Given the description of an element on the screen output the (x, y) to click on. 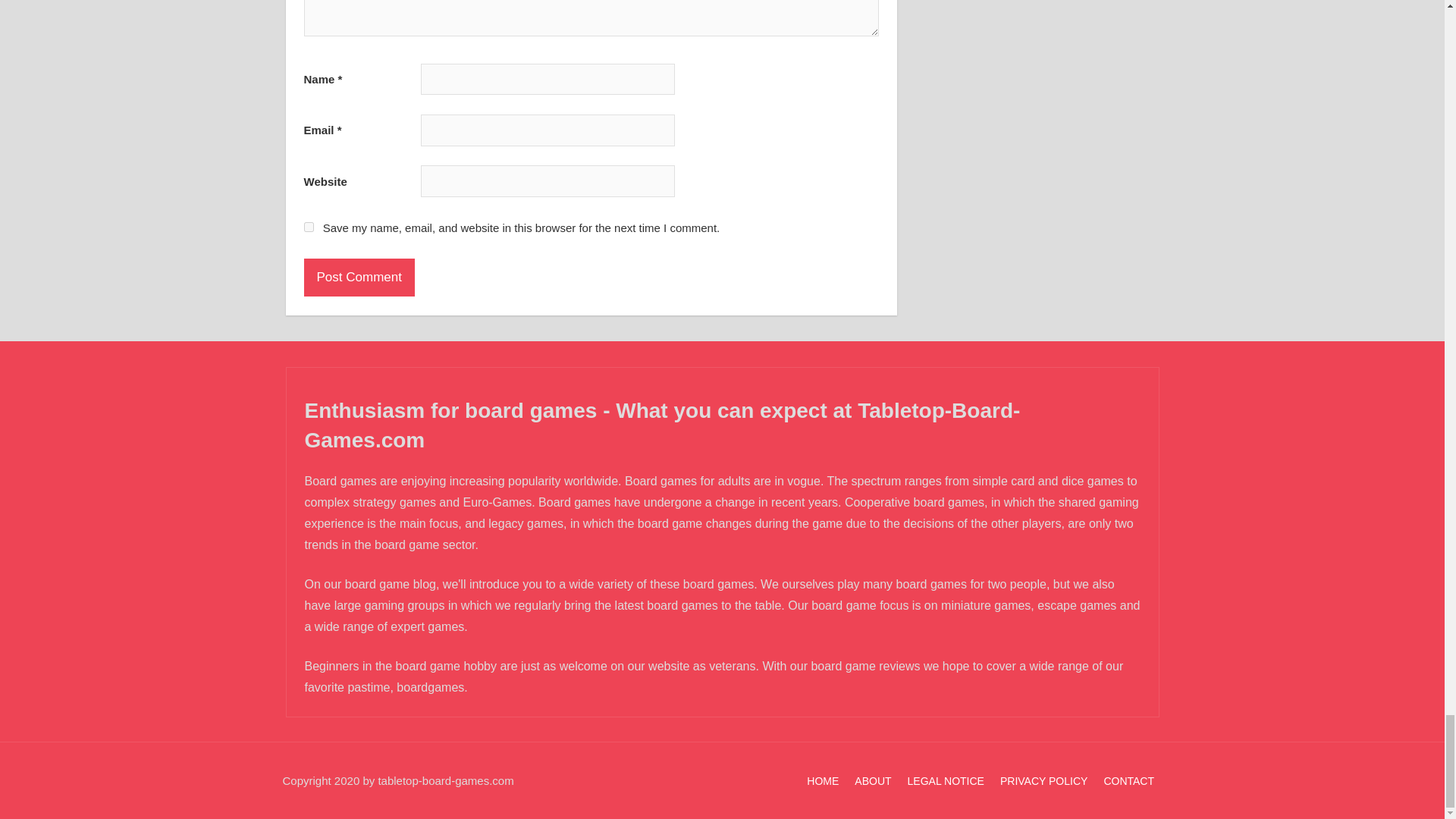
yes (307, 226)
Post Comment (357, 277)
Post Comment (357, 277)
